Given the description of an element on the screen output the (x, y) to click on. 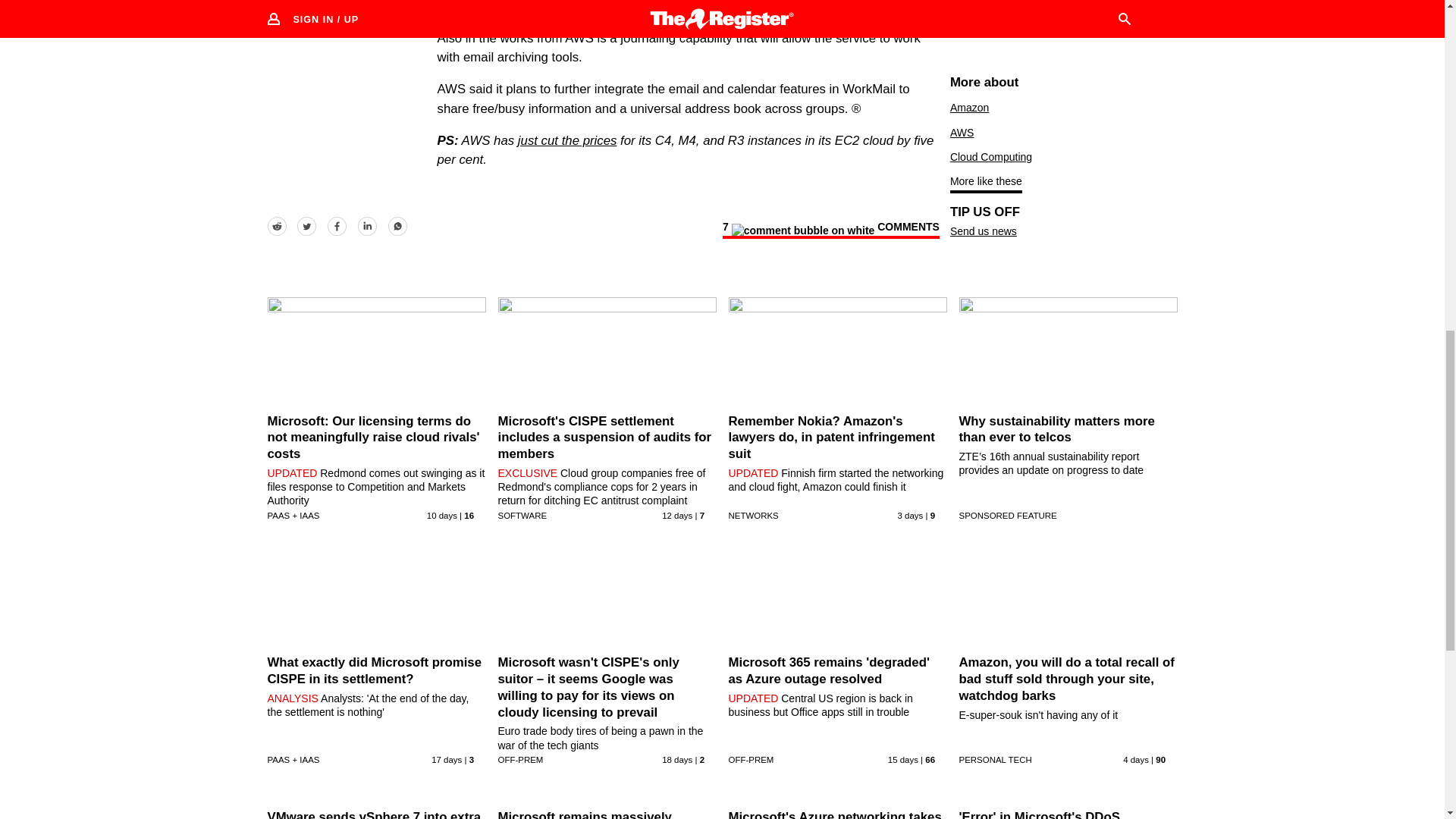
31 Jul 2024 18:45 (910, 515)
17 Jul 2024 13:42 (445, 759)
30 Jul 2024 23:38 (1135, 759)
22 Jul 2024 9:34 (677, 515)
16 Jul 2024 4:1 (677, 759)
19 Jul 2024 2:2 (903, 759)
View comments on this article (830, 229)
24 Jul 2024 11:34 (441, 515)
